Given the description of an element on the screen output the (x, y) to click on. 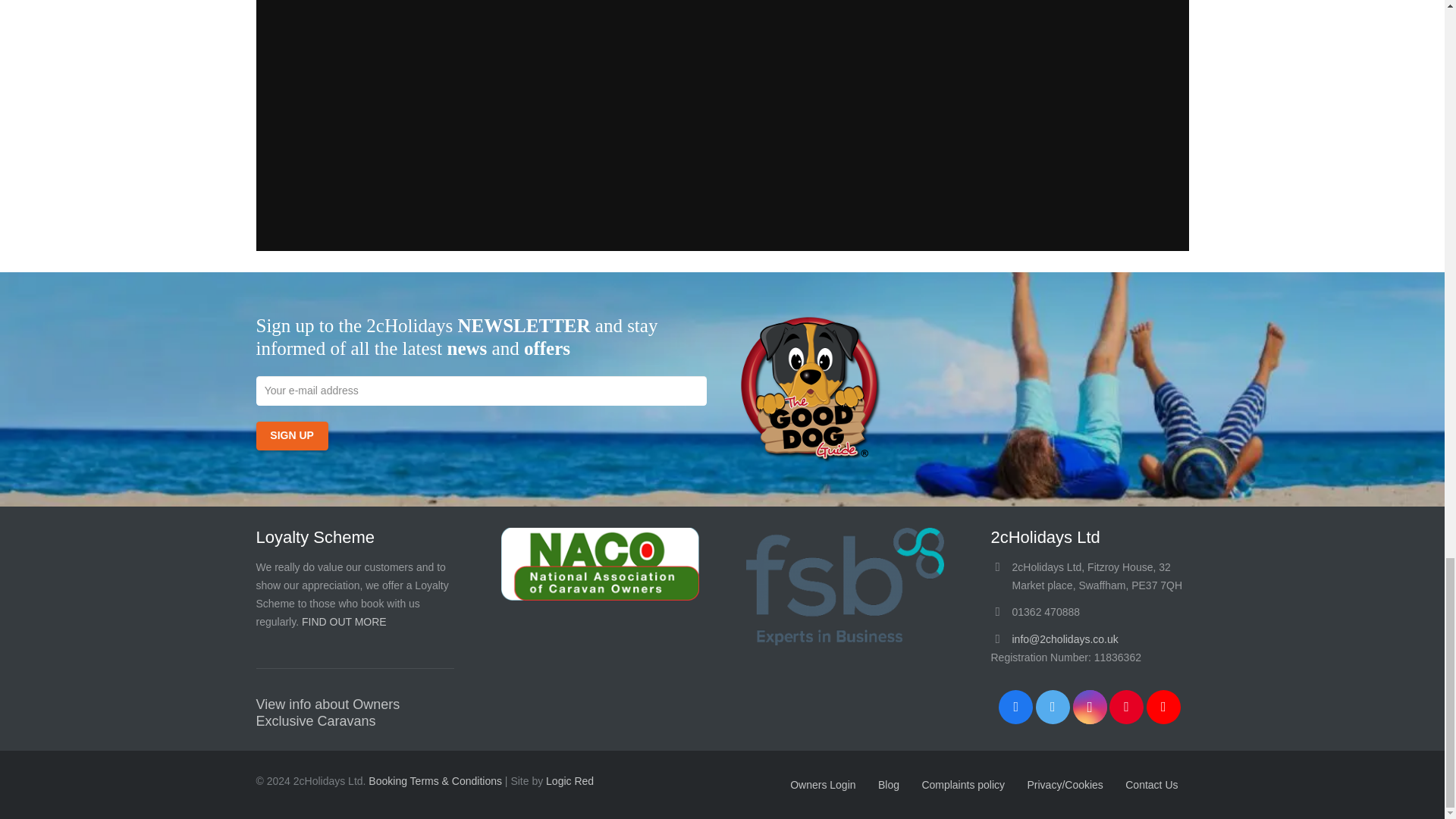
Instagram (1088, 706)
Sign up (292, 435)
Owners Login (822, 784)
Owners Exclusive (328, 712)
FIND OUT MORE (344, 621)
Sign up (292, 435)
Facebook (1015, 706)
YouTube (1163, 706)
Blog (888, 784)
Pinterest (1125, 706)
Complaints policy (962, 784)
Twitter (1052, 706)
Logic Red (570, 780)
Contact Us (1151, 784)
